Given the description of an element on the screen output the (x, y) to click on. 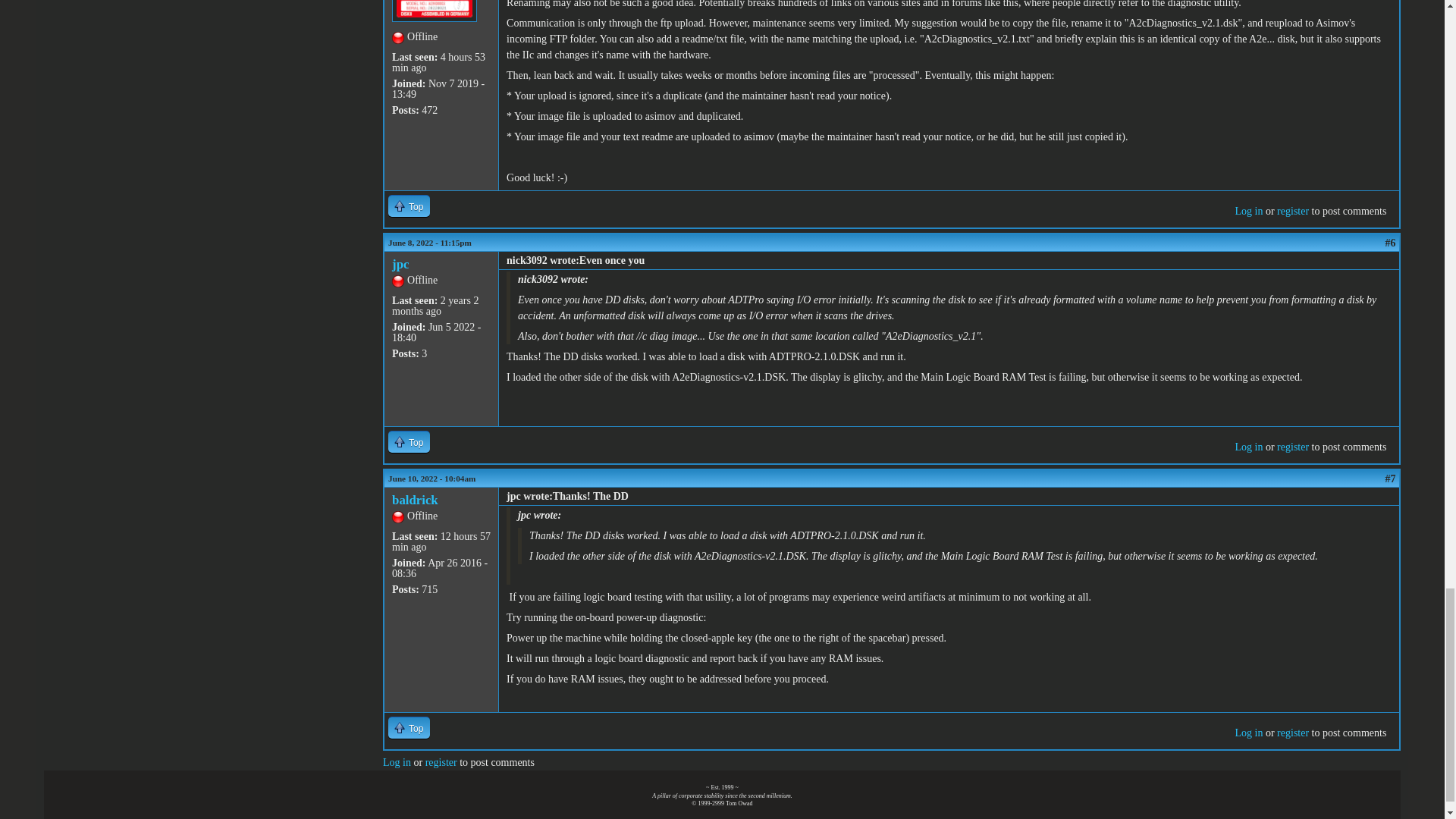
Jump to top of page (408, 441)
View user profile. (414, 499)
View user profile. (400, 264)
Jump to top of page (408, 205)
MacFly's picture (434, 11)
